Given the description of an element on the screen output the (x, y) to click on. 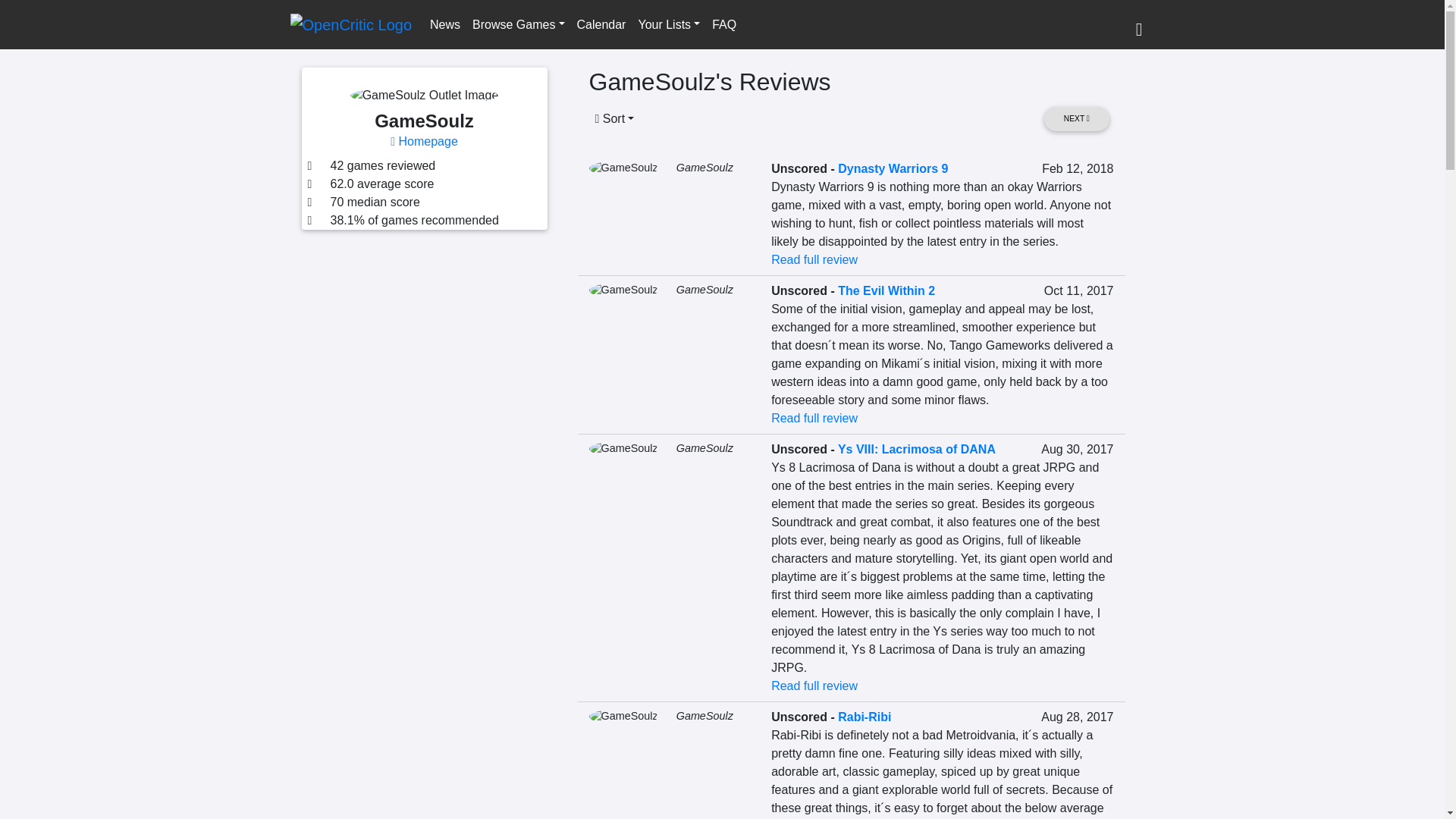
Your Lists (668, 24)
Calendar (600, 24)
FAQ (724, 24)
GameSoulz (705, 289)
NEXT (1075, 118)
Homepage (424, 141)
News (444, 24)
Browse Games (517, 24)
Ys VIII: Lacrimosa of DANA (916, 449)
The Evil Within 2 (886, 290)
GameSoulz (705, 448)
Read full review (814, 685)
GameSoulz (705, 167)
Read full review (814, 259)
Dynasty Warriors 9 (892, 168)
